Given the description of an element on the screen output the (x, y) to click on. 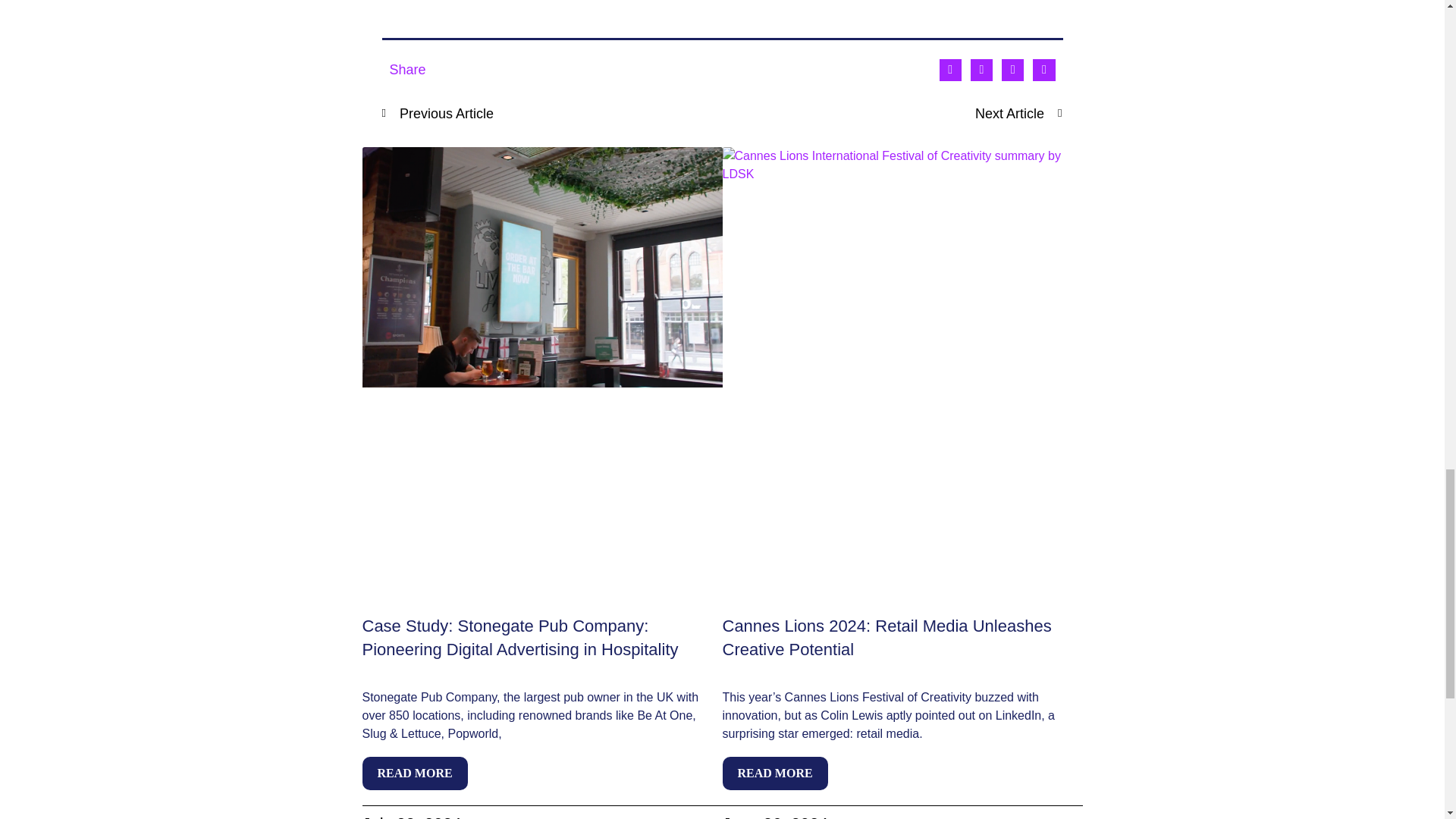
Cannes Lions 2024: Retail Media Unleashes Creative Potential (886, 637)
Next Article (892, 114)
READ MORE (414, 773)
Previous Article (551, 114)
READ MORE (774, 773)
